Given the description of an element on the screen output the (x, y) to click on. 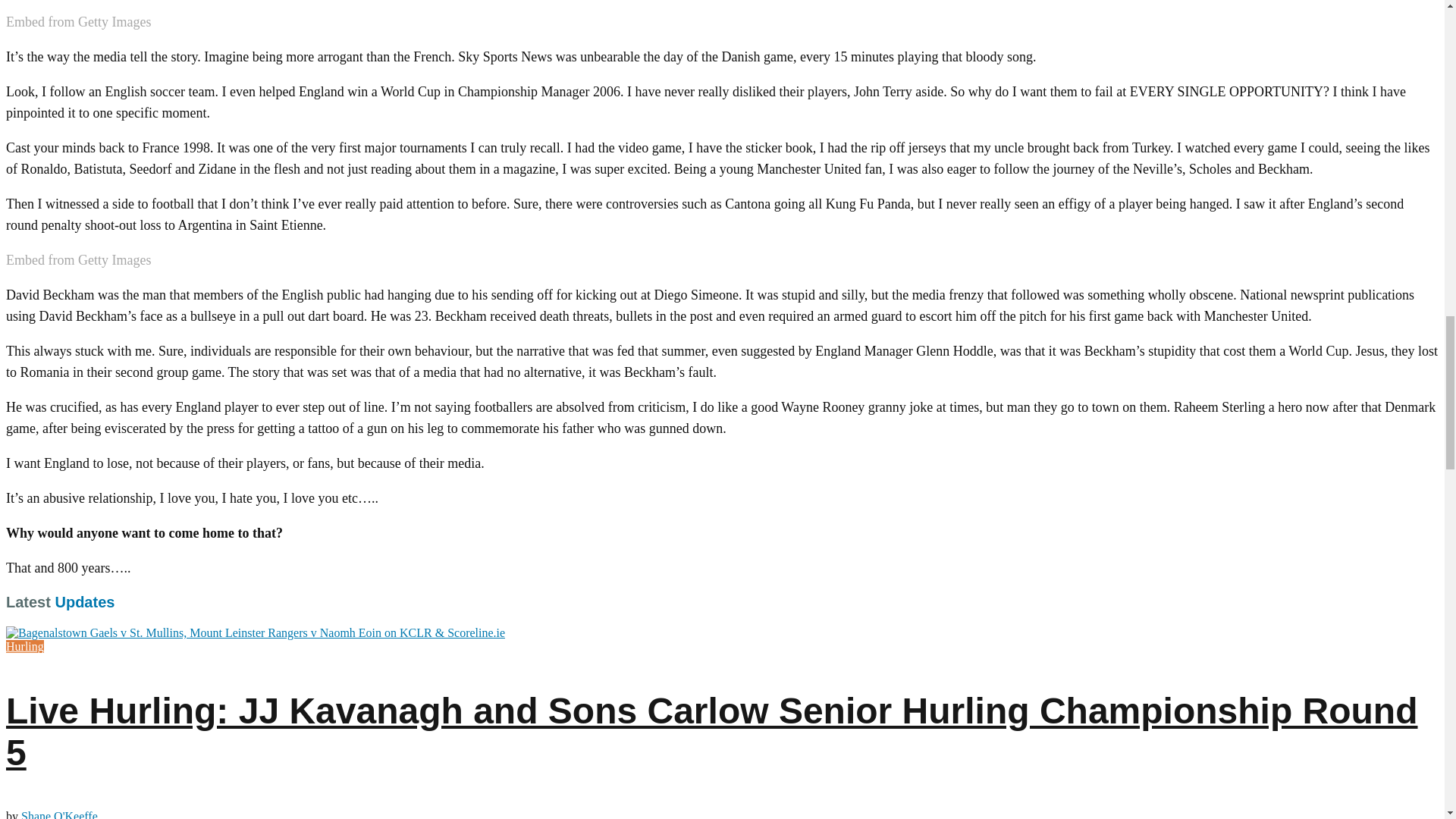
Shane O'Keeffe (59, 814)
Embed from Getty Images (78, 21)
Embed from Getty Images (78, 260)
Hurling (24, 645)
